Given the description of an element on the screen output the (x, y) to click on. 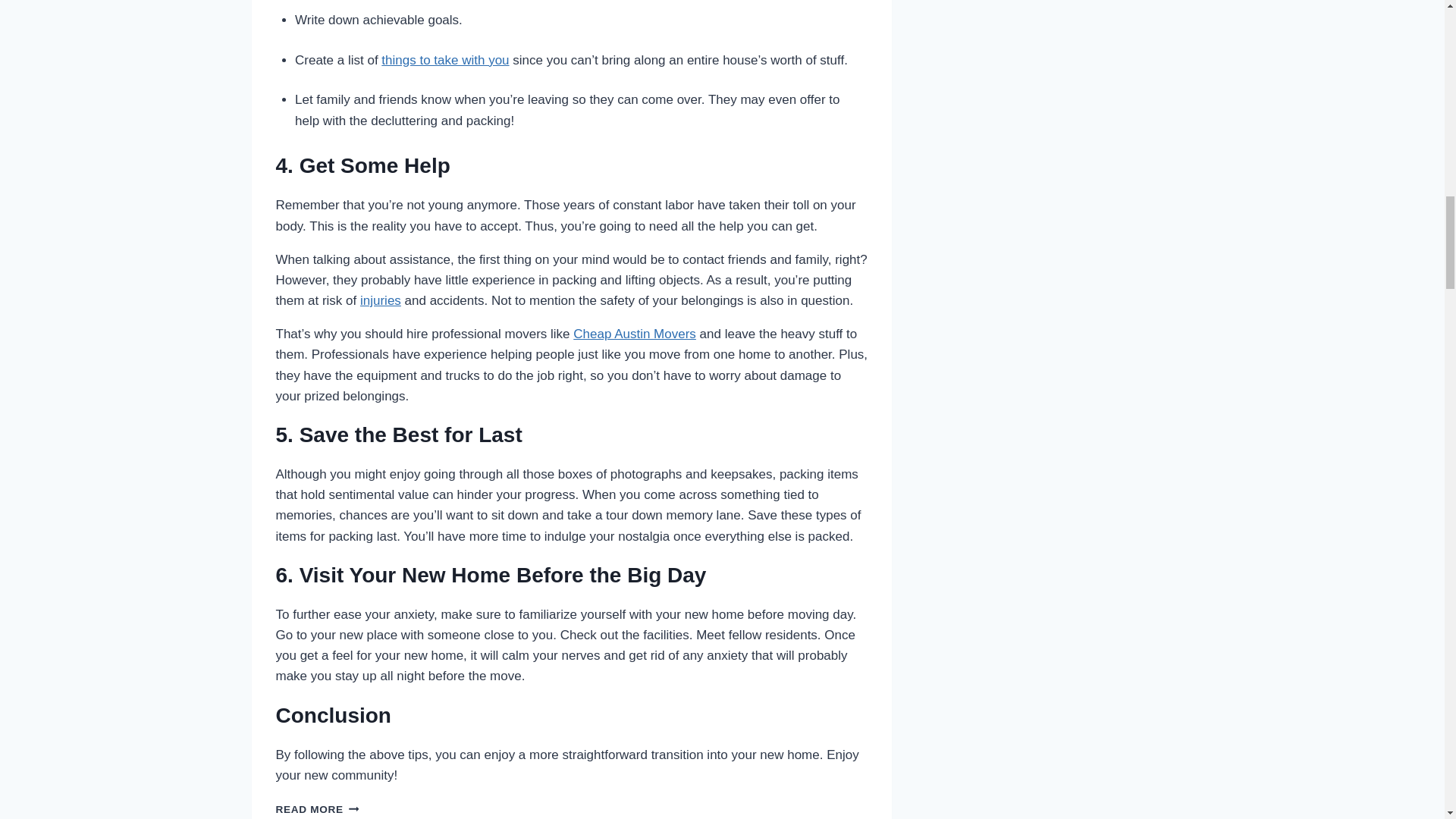
Cheap Austin Movers (634, 333)
things to take with you (444, 60)
injuries (380, 300)
